Given the description of an element on the screen output the (x, y) to click on. 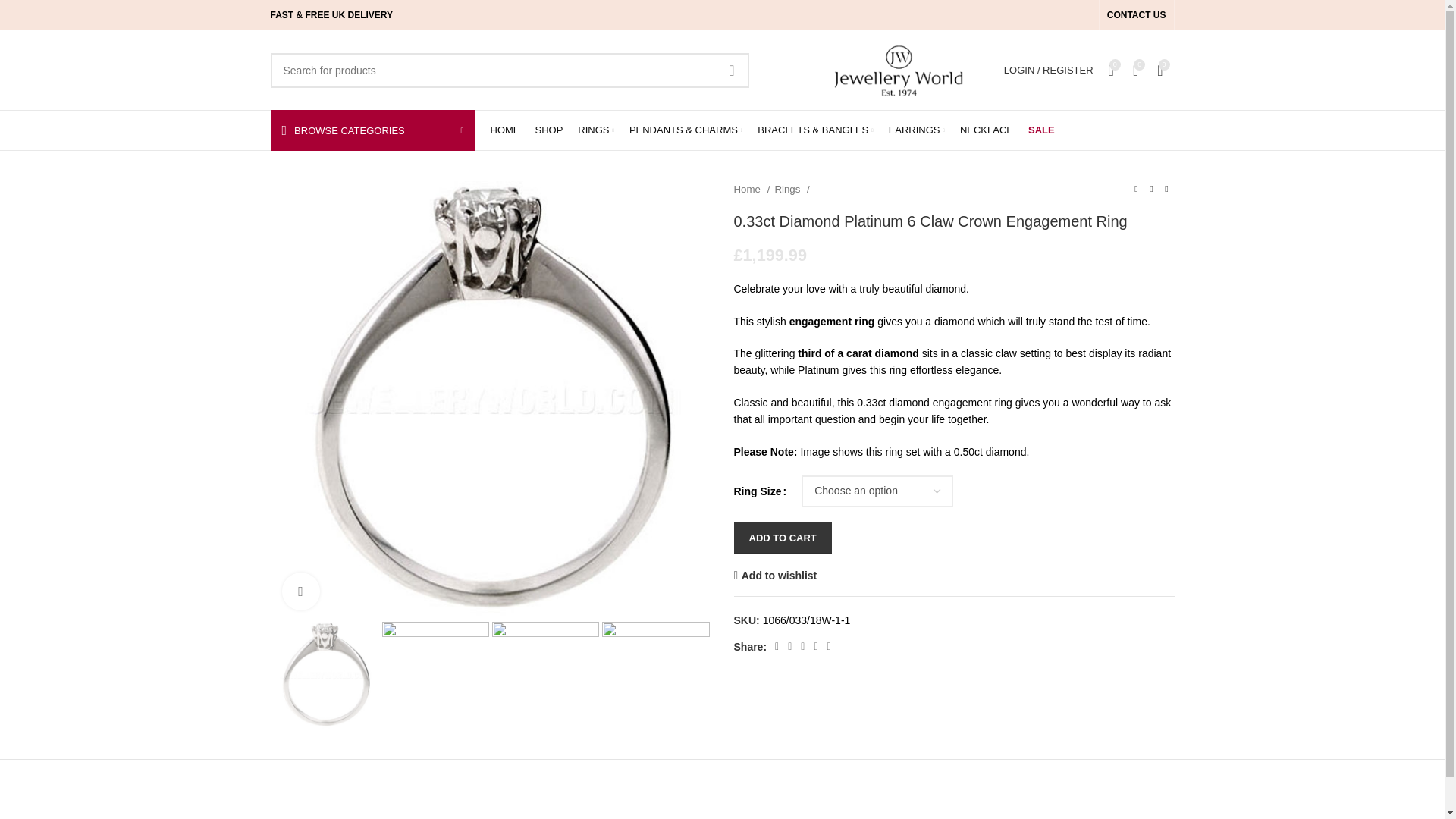
NECKLACE (986, 130)
SEARCH (731, 70)
Shopping cart (1165, 69)
HOME (504, 130)
Search for products (508, 70)
EARRINGS (916, 130)
My account (1047, 69)
RINGS (596, 130)
0 (1165, 69)
SHOP (549, 130)
CONTACT US (1136, 14)
